Given the description of an element on the screen output the (x, y) to click on. 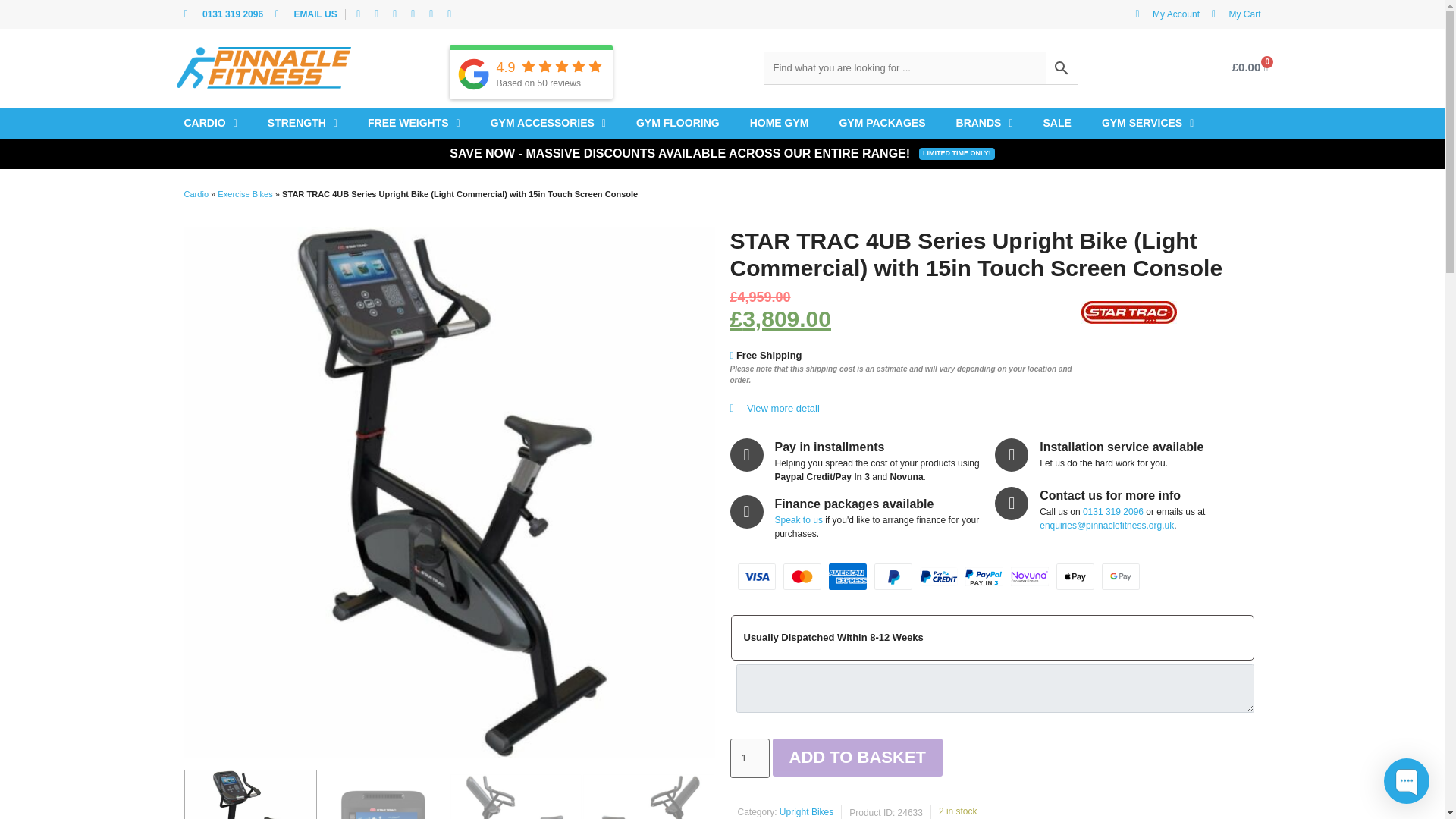
1 (748, 758)
CARDIO (210, 122)
My Cart (1235, 14)
0131 319 2096 (223, 14)
My Account (1167, 14)
EMAIL US (306, 14)
STRENGTH (302, 122)
